Given the description of an element on the screen output the (x, y) to click on. 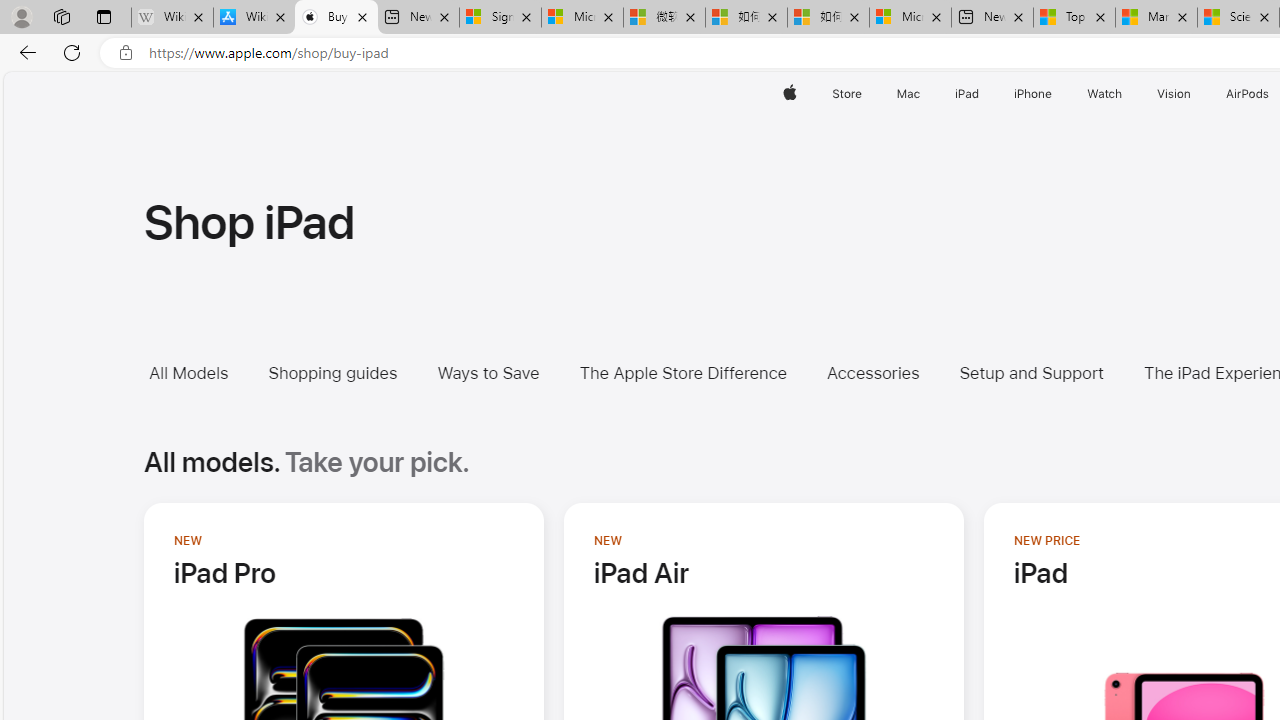
All Models (203, 372)
Buy iPad - Apple (336, 17)
The Apple Store Difference (682, 372)
Setup and Support (1030, 372)
Apple (789, 93)
All Models (188, 372)
Watch menu (1125, 93)
Store (846, 93)
